Given the description of an element on the screen output the (x, y) to click on. 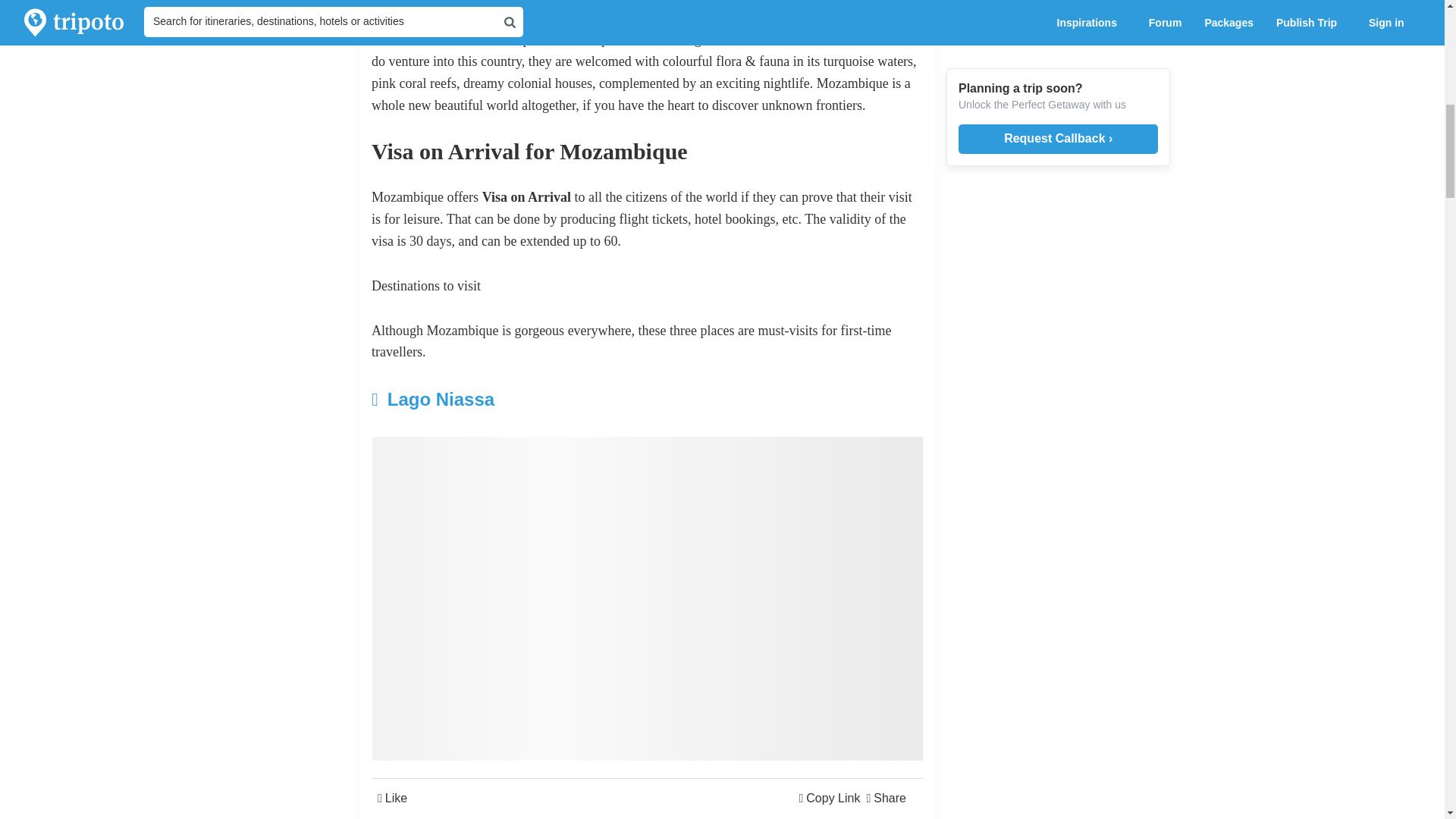
Lago Niassa (555, 399)
